Given the description of an element on the screen output the (x, y) to click on. 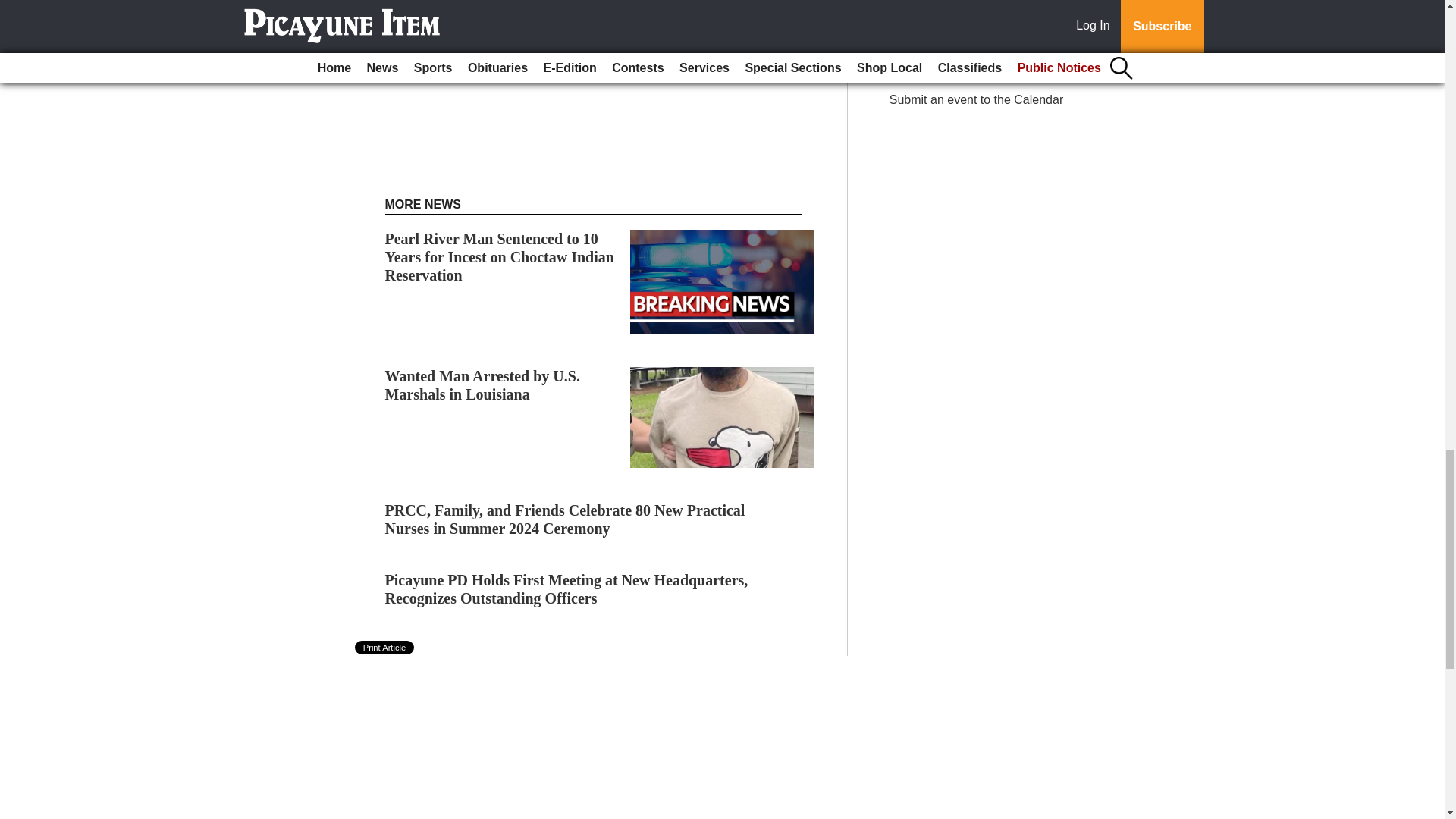
Print Article (384, 647)
Wanted Man Arrested by U.S. Marshals in Louisiana (482, 384)
Wanted Man Arrested by U.S. Marshals in Louisiana (482, 384)
